Given the description of an element on the screen output the (x, y) to click on. 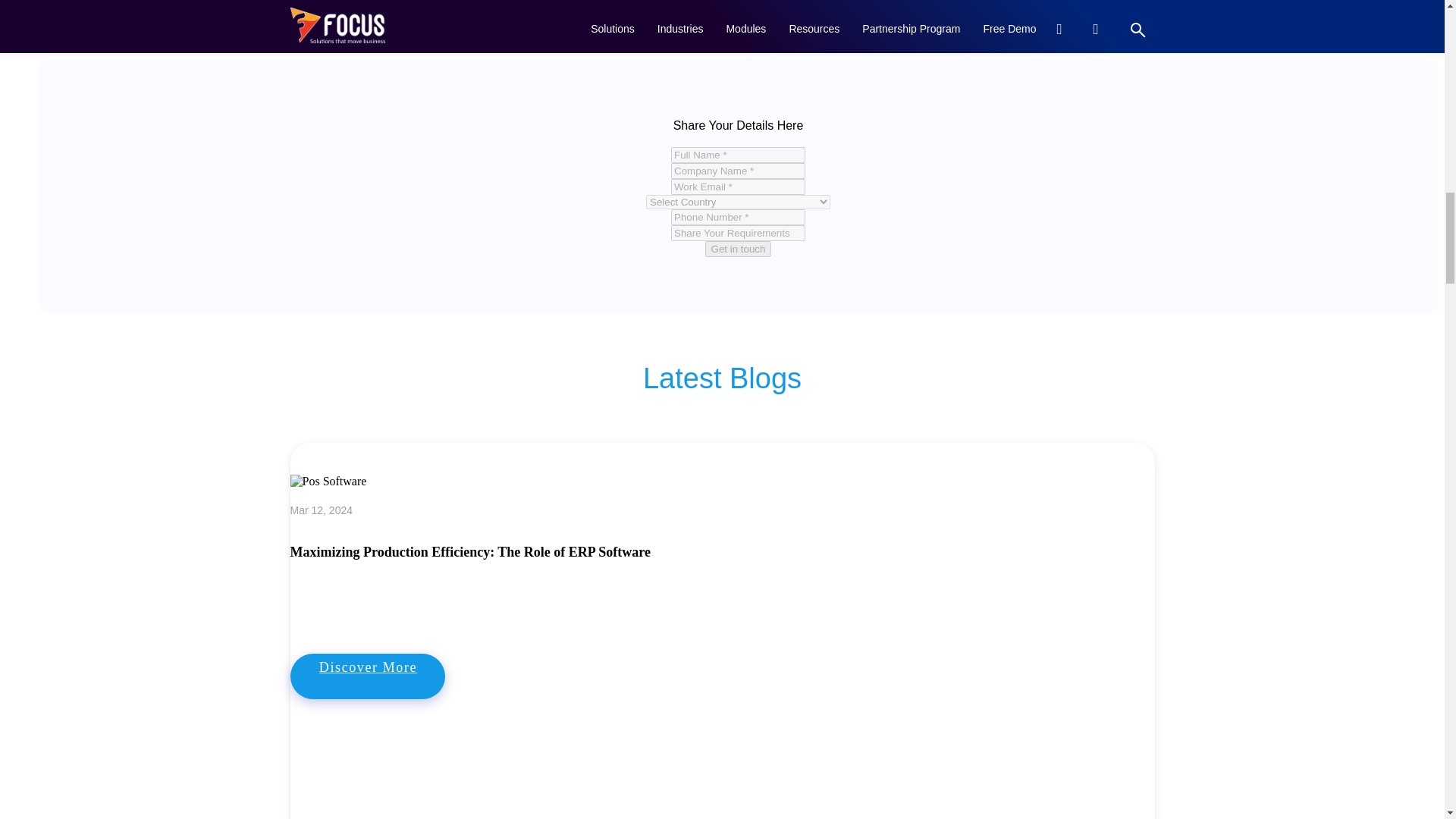
Get in touch (737, 248)
